Given the description of an element on the screen output the (x, y) to click on. 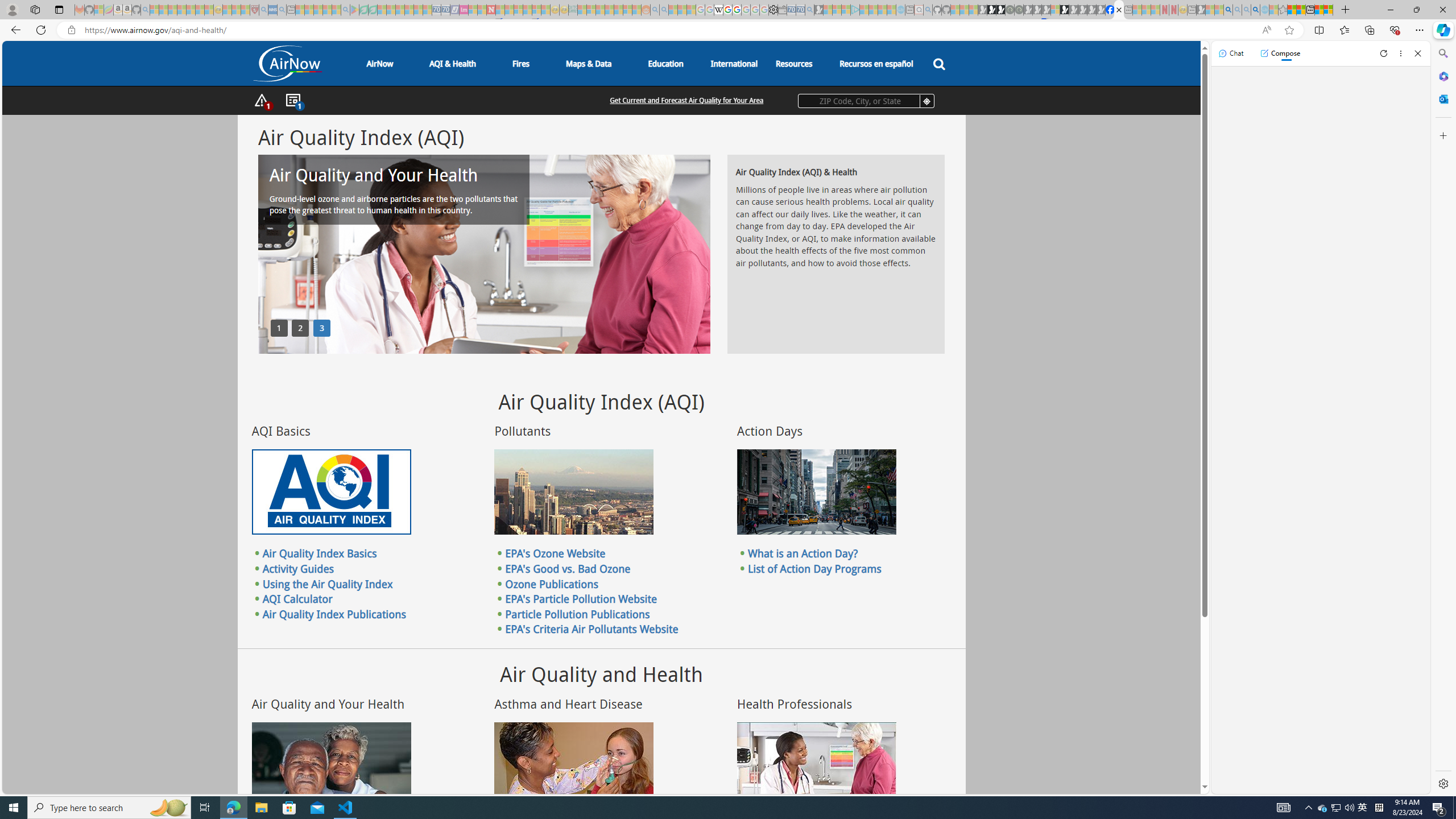
AQI logo (330, 491)
Asthma and Heart Disease (573, 764)
Jobs - lastminute.com Investor Portal - Sleeping (463, 9)
AutomationID: nav-announcements-toggle (292, 100)
Air Now Logo (286, 63)
